Given the description of an element on the screen output the (x, y) to click on. 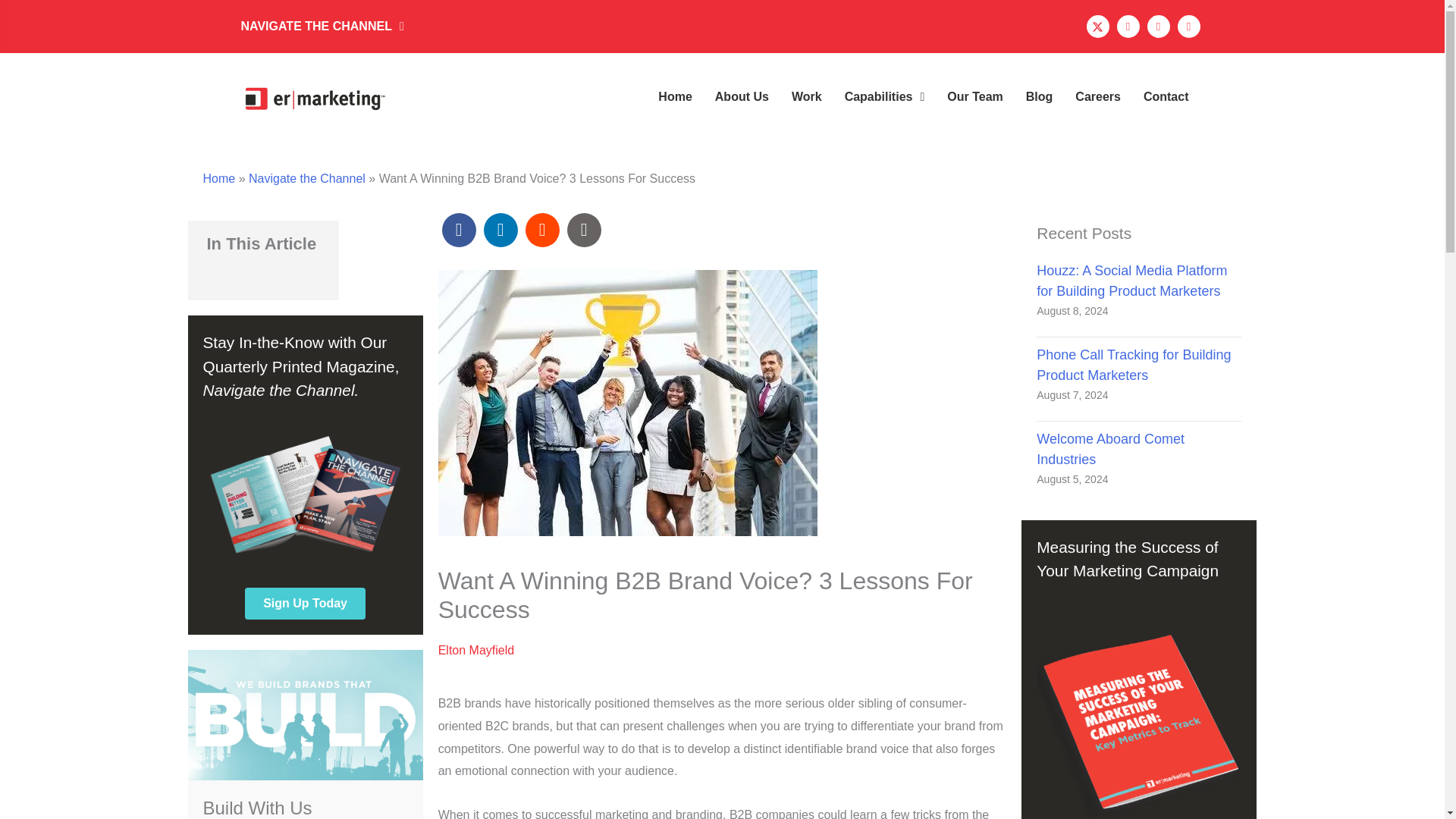
WBBTB (305, 714)
pexels-photo-1153215 (627, 403)
Instagram (1127, 26)
About Us (741, 96)
Careers (1097, 96)
Home (674, 96)
Capabilities (885, 96)
Facebook (1158, 26)
Our Team (974, 96)
